Given the description of an element on the screen output the (x, y) to click on. 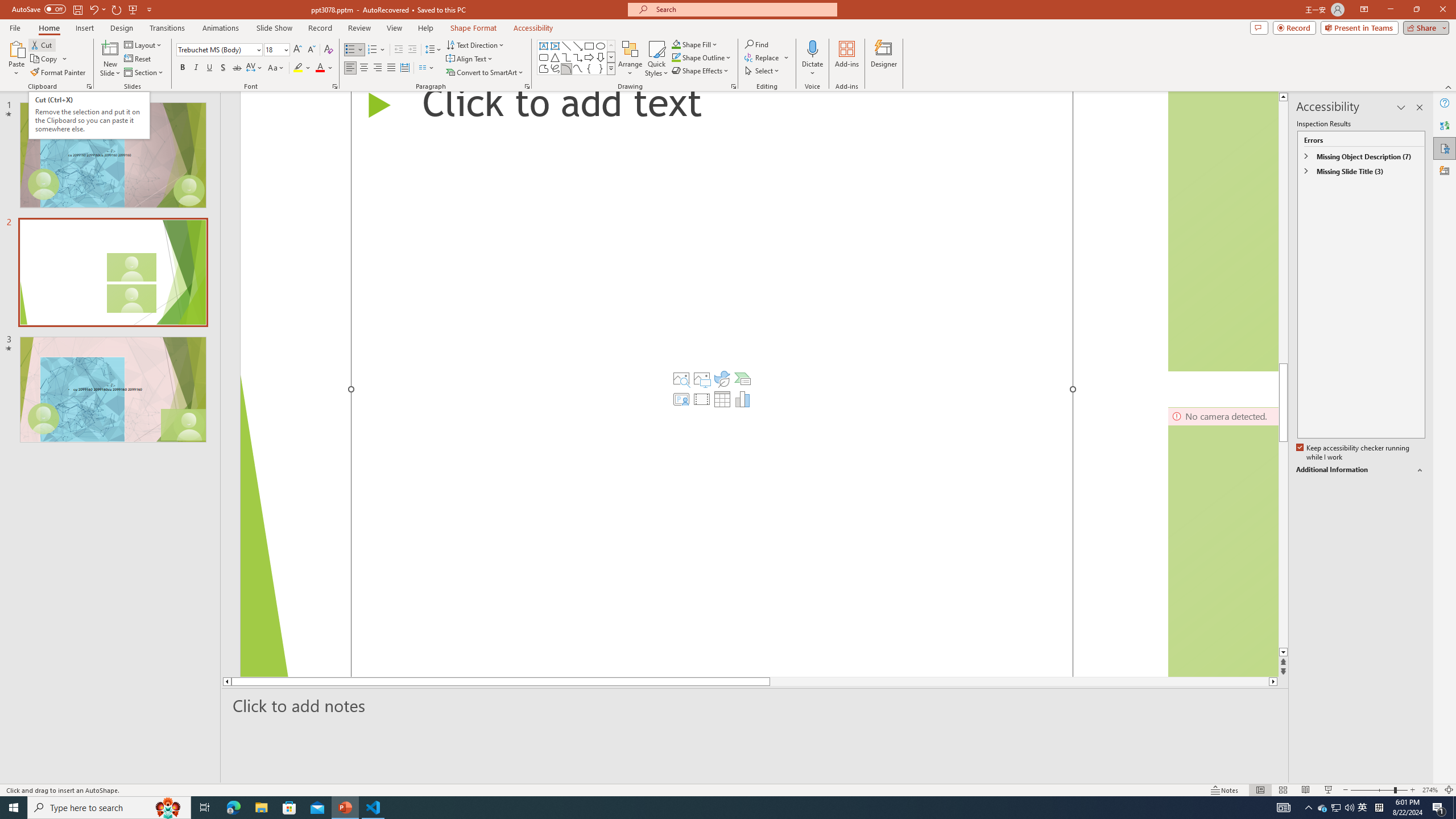
Camera 5, No camera detected. (1222, 231)
Shape Effects (700, 69)
